Given the description of an element on the screen output the (x, y) to click on. 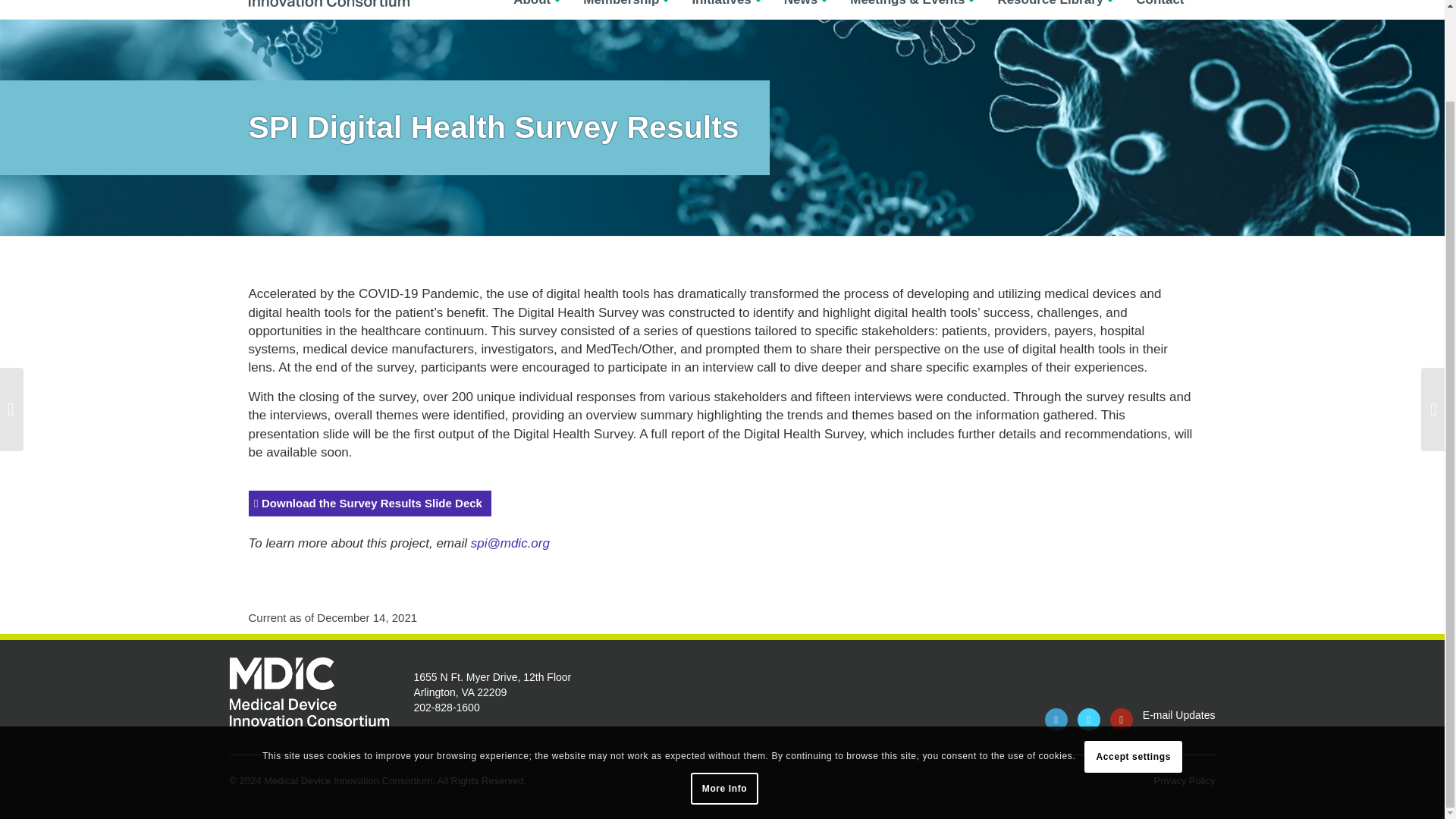
LinkedIn (1056, 719)
Membership (625, 8)
See our Privacy Policy (724, 684)
Initiatives (725, 8)
About (537, 8)
Youtube (1120, 719)
X (1088, 719)
Permanent Link: SPI Digital Health Survey Results (493, 126)
